Given the description of an element on the screen output the (x, y) to click on. 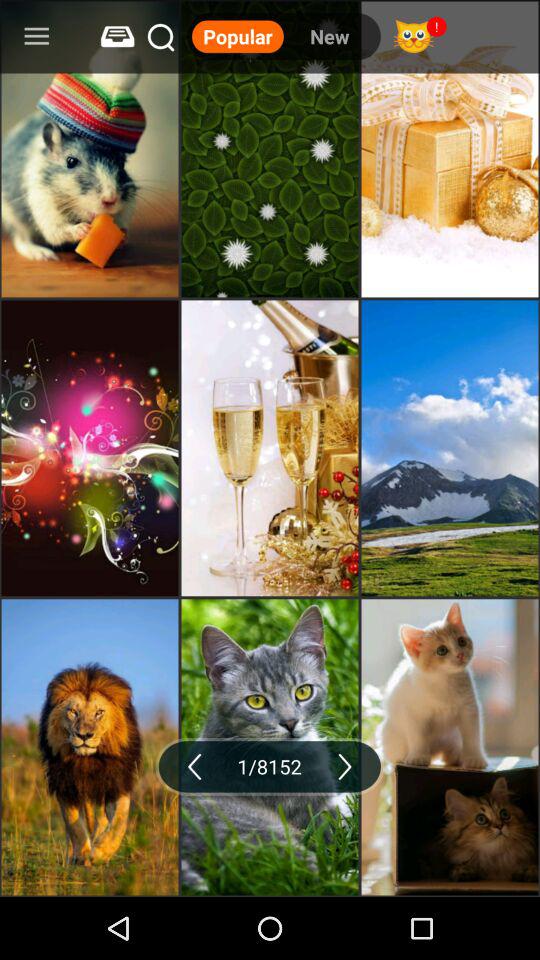
tap item next to new (237, 36)
